Given the description of an element on the screen output the (x, y) to click on. 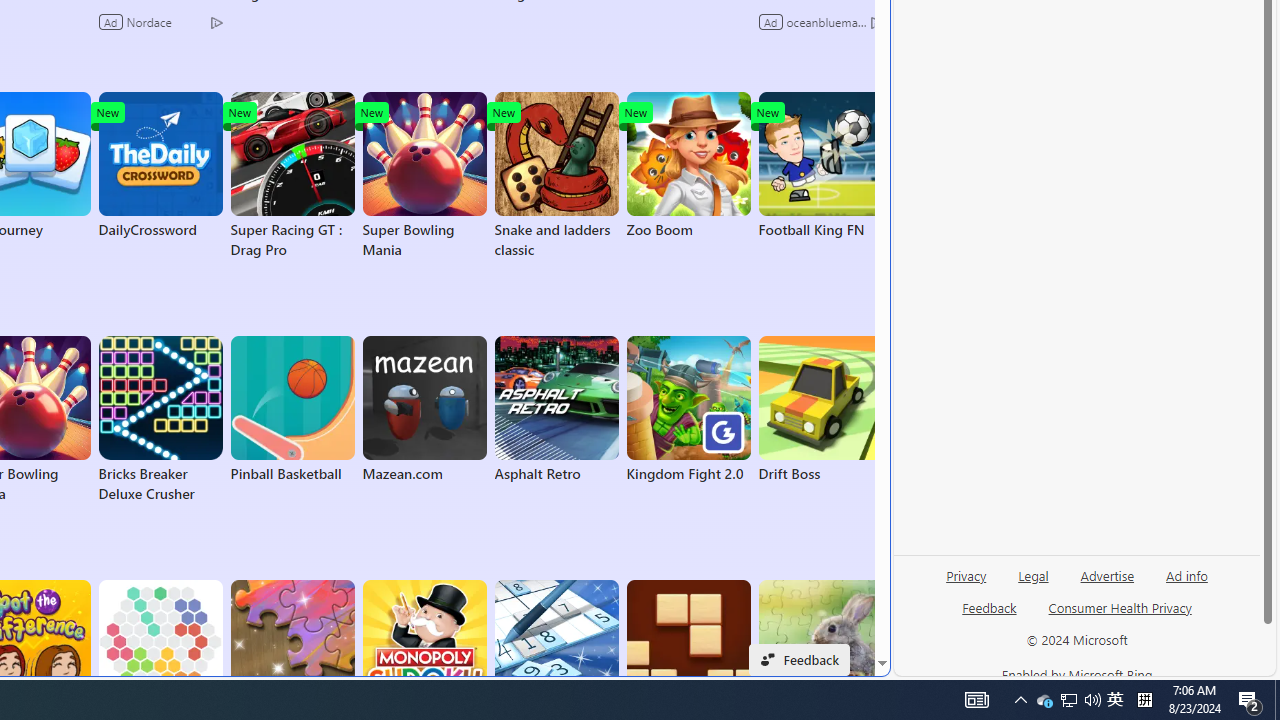
Bricks Breaker Deluxe Crusher (160, 419)
Super Bowling Mania (424, 175)
Kingdom Fight 2.0 (688, 409)
Football King FN (820, 165)
Mazean.com (424, 409)
Snake and ladders classic (556, 175)
